Given the description of an element on the screen output the (x, y) to click on. 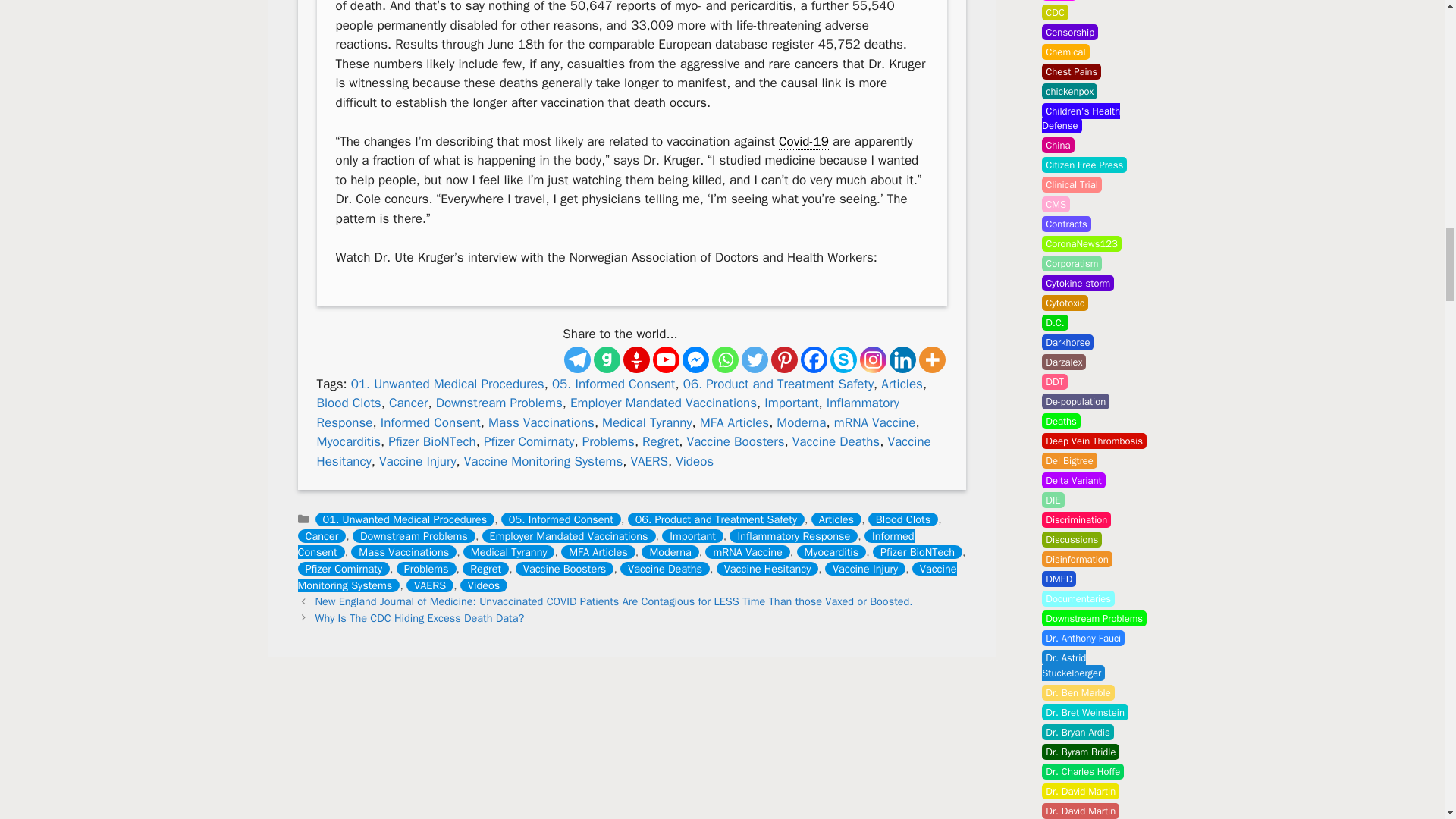
Telegram (577, 359)
Gettr (636, 359)
Youtube (665, 359)
Gab (607, 359)
